Given the description of an element on the screen output the (x, y) to click on. 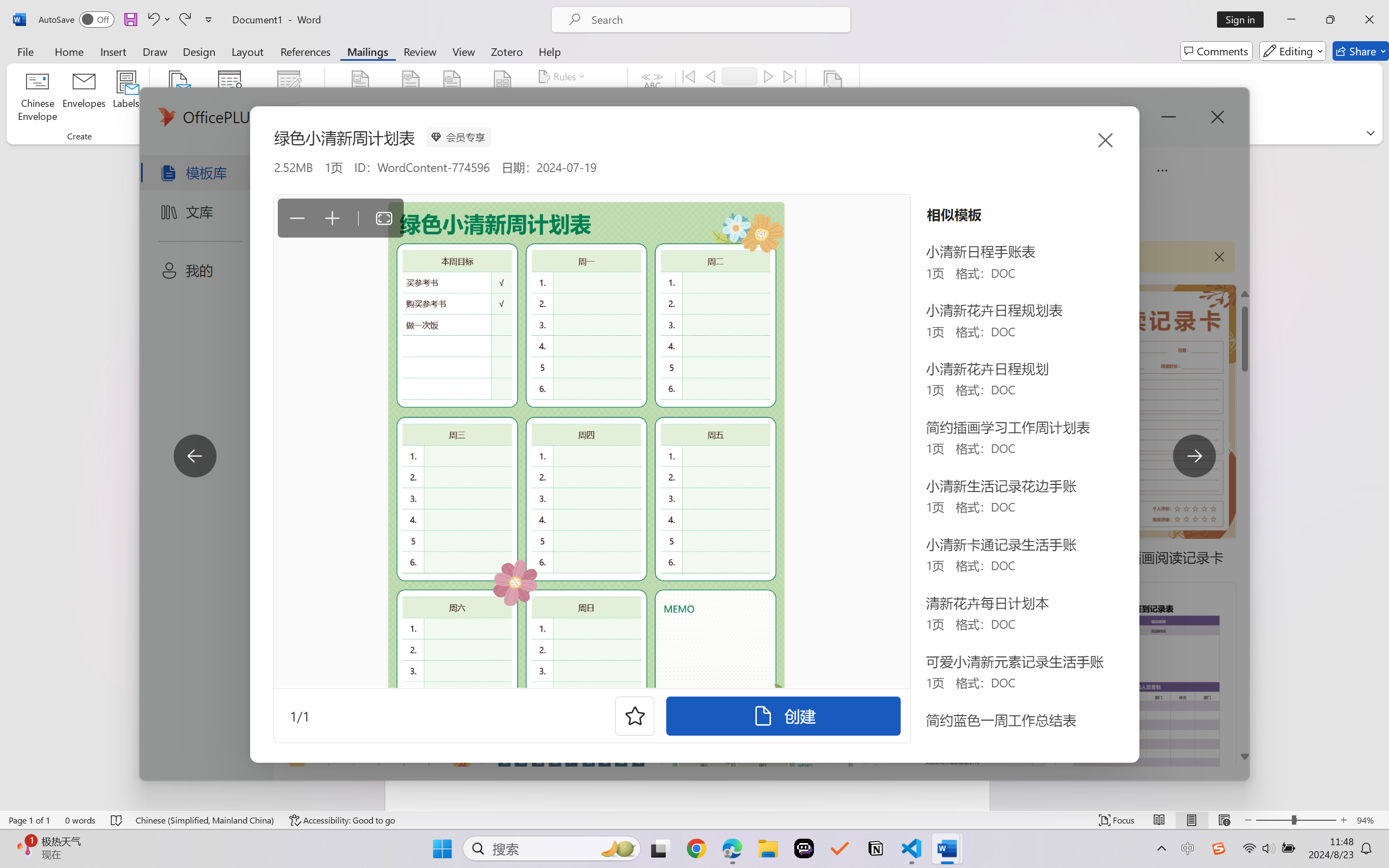
Find Recipient... (723, 97)
Start Mail Merge (177, 97)
Finish & Merge (832, 97)
Record (739, 76)
Update Labels (576, 118)
